Given the description of an element on the screen output the (x, y) to click on. 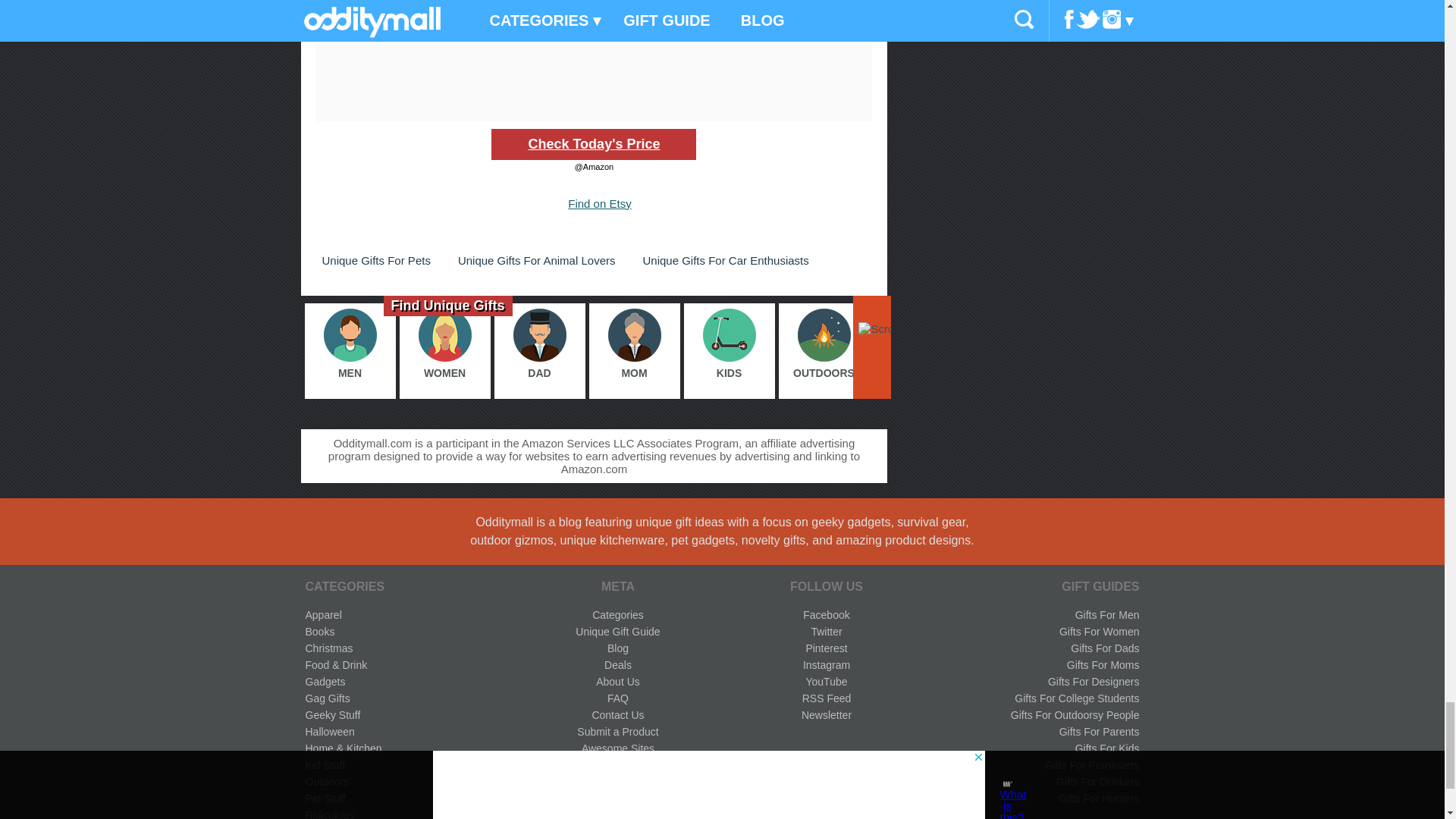
Unique Gifts For Pets (375, 260)
Check Today's Price (593, 143)
Unique Gifts For Animal Lovers (536, 260)
Unique Gifts For Car Enthusiasts (724, 260)
Unique Gifts For Car Enthusiasts (724, 260)
Unique Gifts For Animal Lovers (536, 260)
Find on Etsy (598, 203)
Unique Gifts For Pets (375, 260)
